Given the description of an element on the screen output the (x, y) to click on. 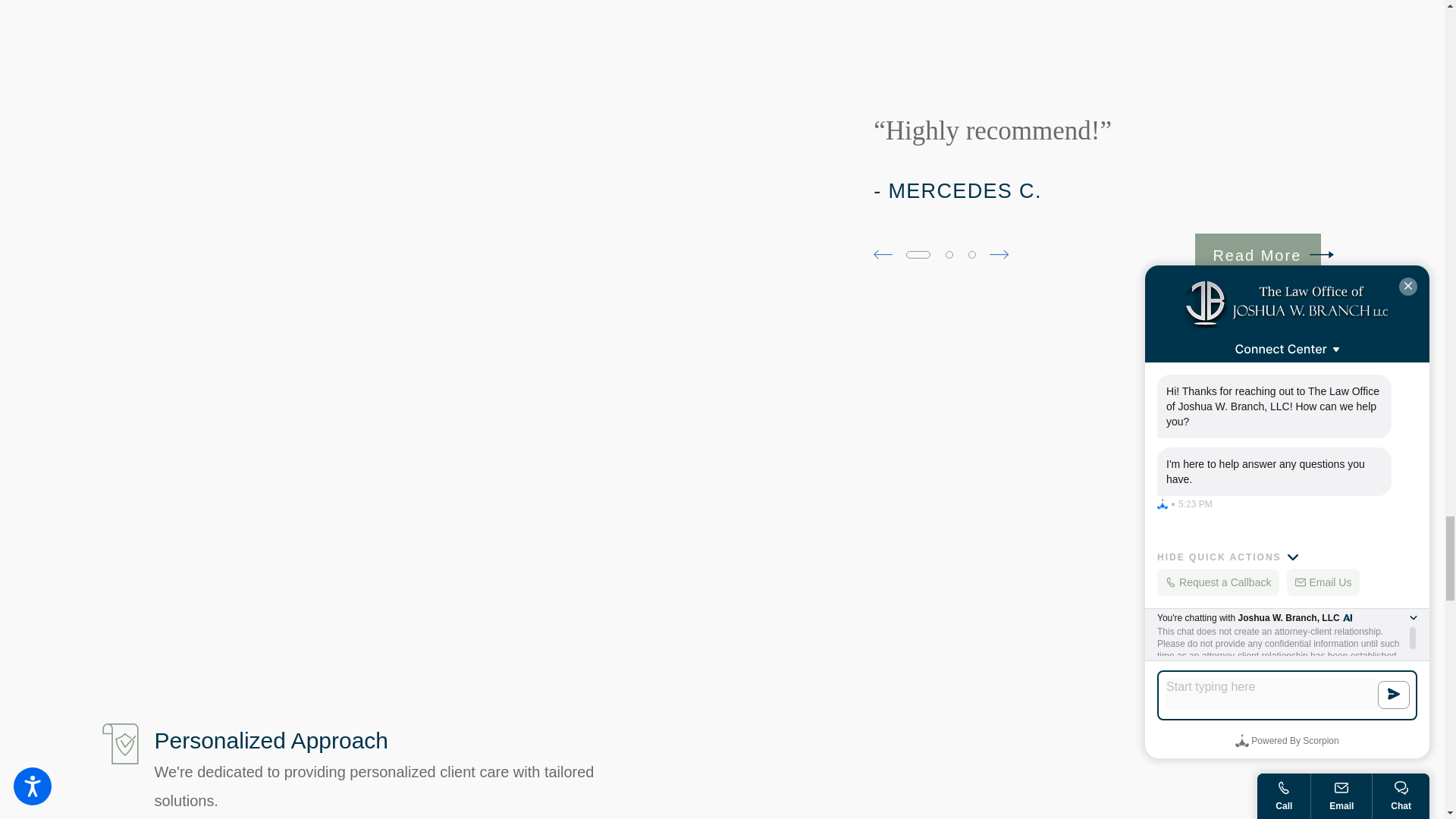
View previous item (882, 253)
View Item 1 (917, 254)
View Item 2 (948, 254)
